Given the description of an element on the screen output the (x, y) to click on. 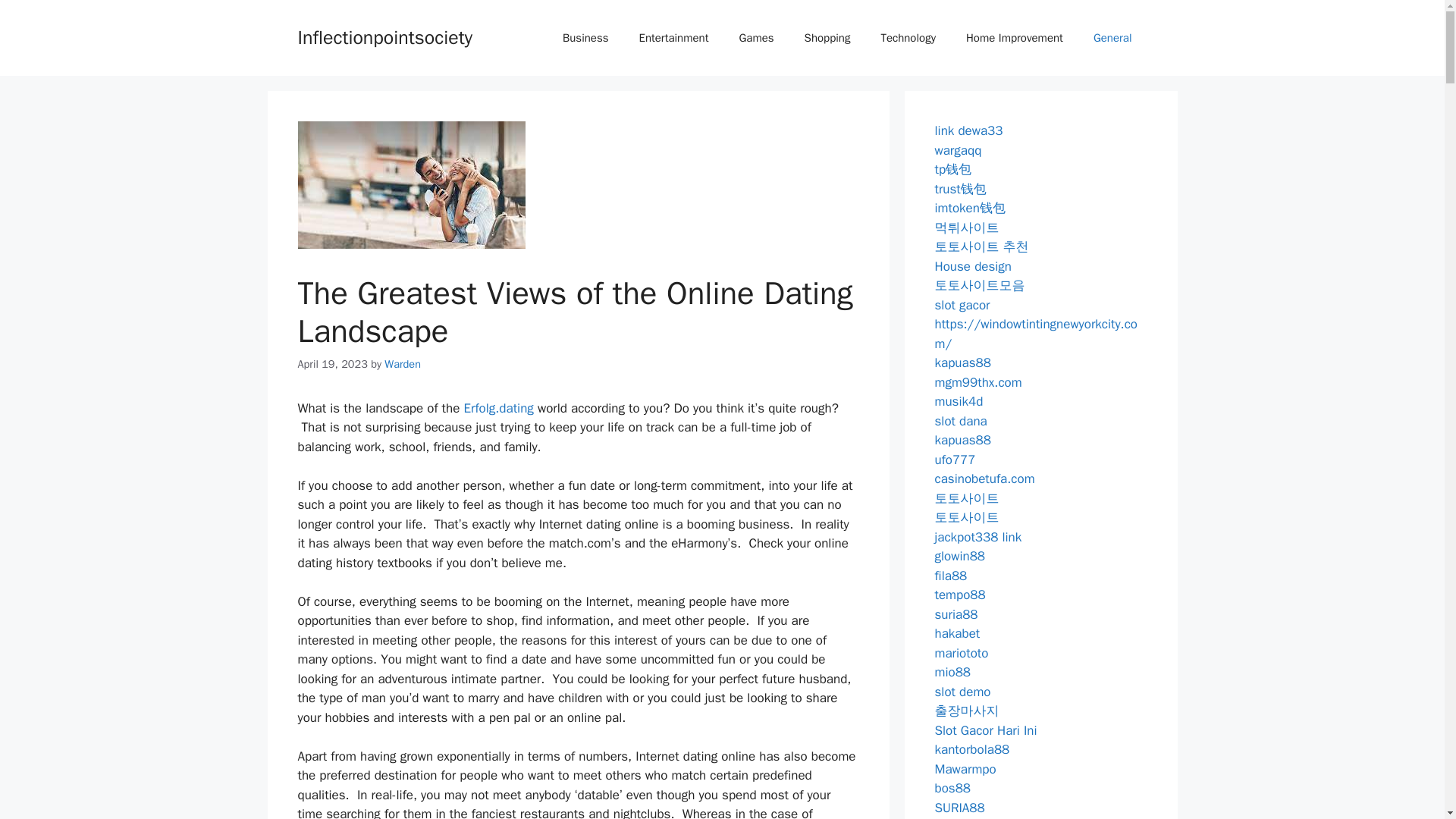
slot gacor (962, 304)
kapuas88 (962, 362)
wargaqq (957, 150)
Business (585, 37)
link dewa33 (968, 130)
House design (972, 265)
slot dana (960, 420)
Entertainment (673, 37)
Technology (907, 37)
Home Improvement (1014, 37)
Shopping (827, 37)
View all posts by Warden (402, 364)
casinobetufa.com (983, 478)
Games (756, 37)
General (1112, 37)
